Given the description of an element on the screen output the (x, y) to click on. 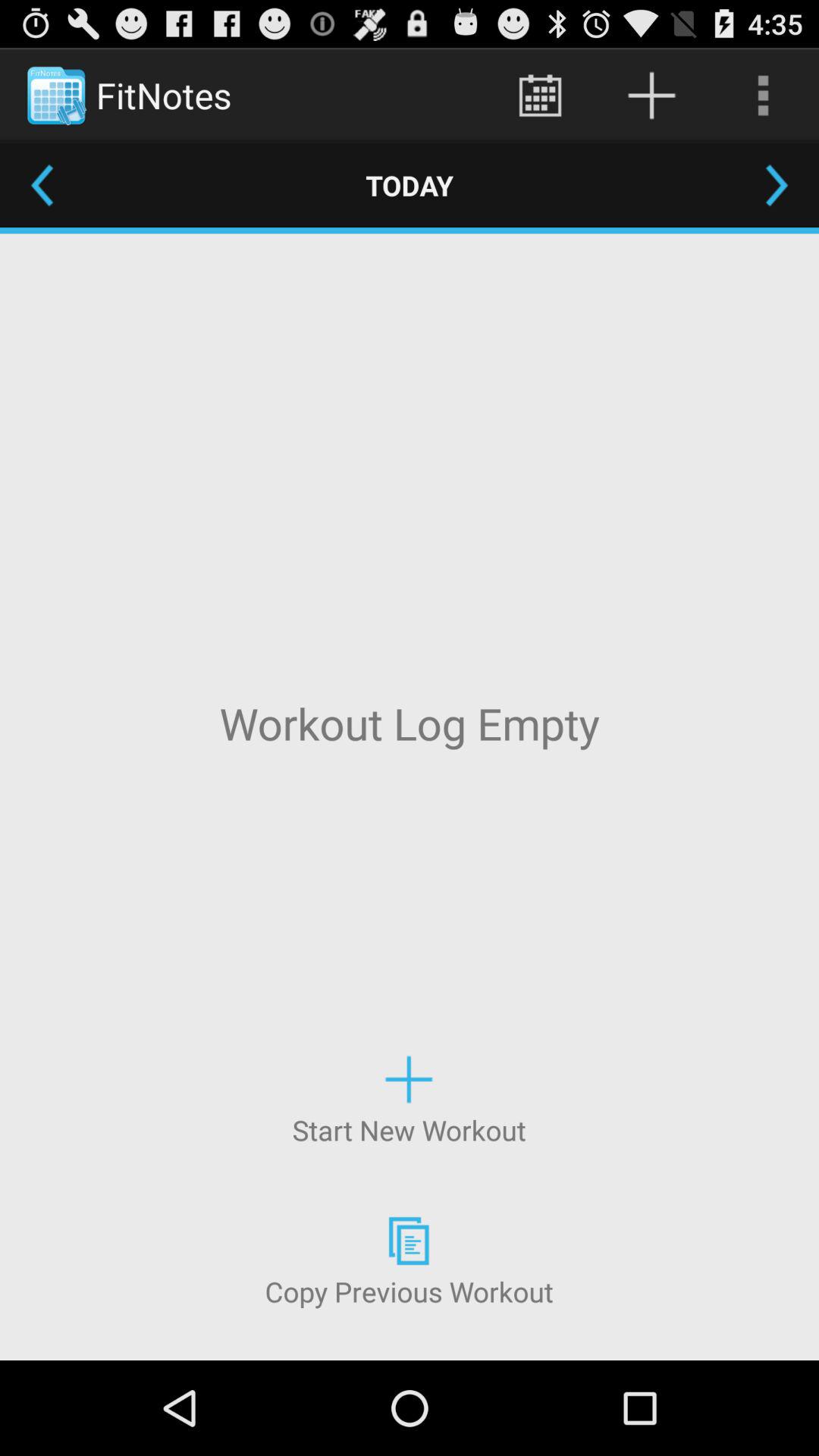
press icon below the workout log empty icon (409, 1098)
